Given the description of an element on the screen output the (x, y) to click on. 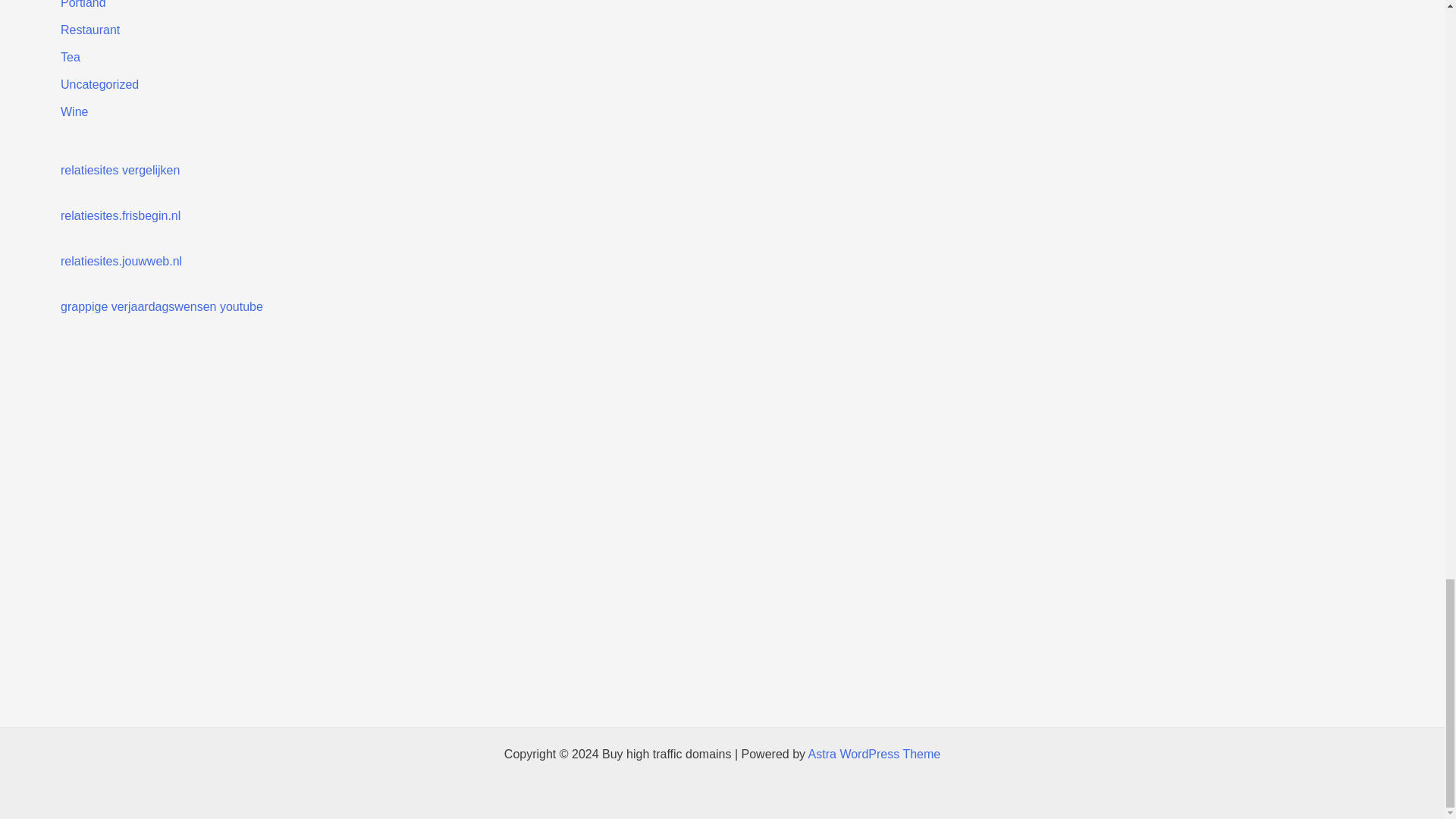
Wine (74, 111)
Advertisement (721, 685)
Advertisement (721, 602)
Astra WordPress Theme (874, 753)
grappige verjaardagswensen youtube (162, 306)
Restaurant (90, 29)
relatiesites vergelijken (120, 169)
relatiesites.jouwweb.nl (121, 260)
relatiesites.frisbegin.nl (120, 215)
Advertisement (744, 431)
Uncategorized (99, 83)
Portland (83, 4)
Tea (70, 56)
